Given the description of an element on the screen output the (x, y) to click on. 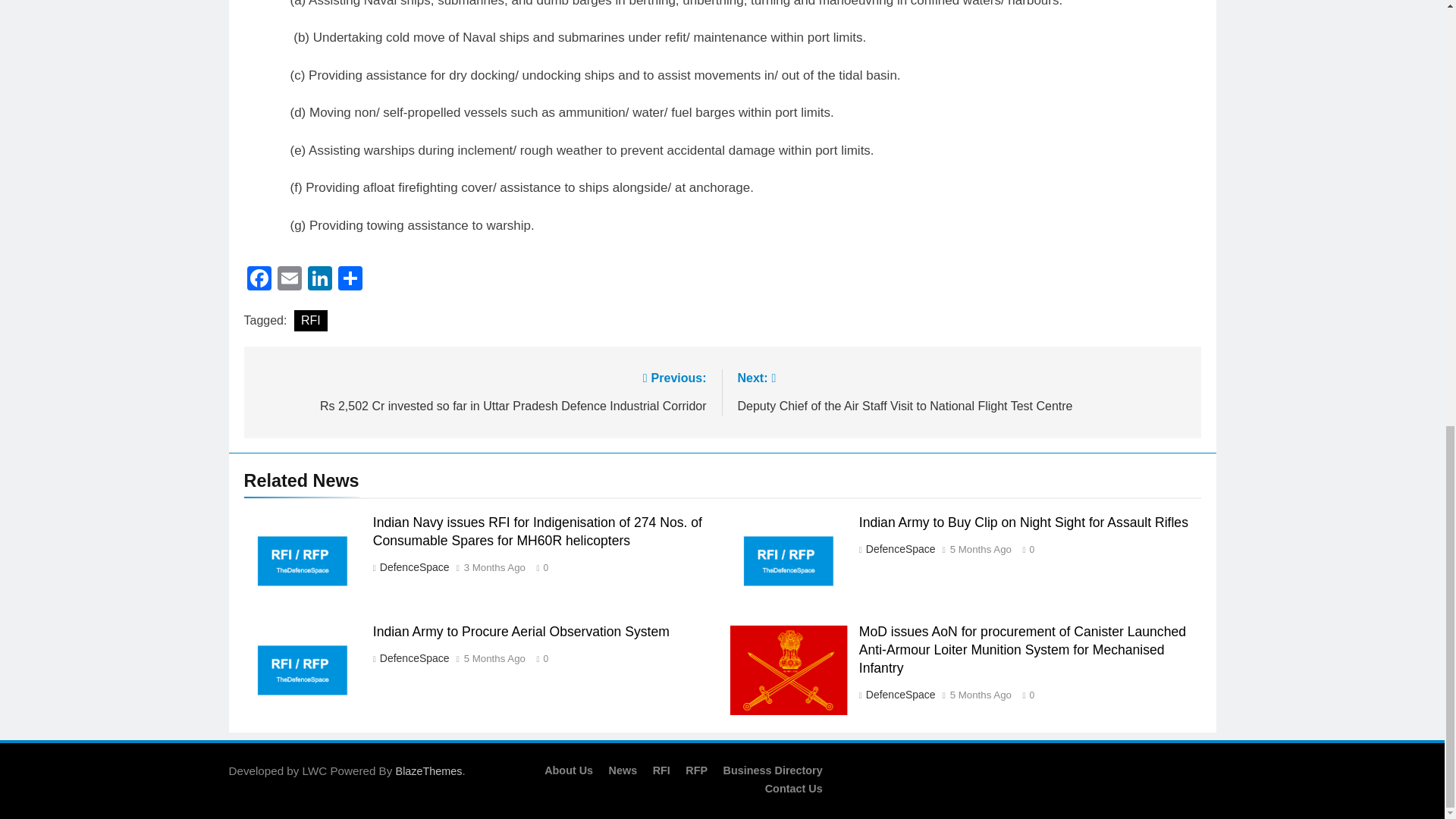
Email (289, 280)
Facebook (259, 280)
LinkedIn (319, 280)
Email (289, 280)
Facebook (259, 280)
LinkedIn (319, 280)
